Given the description of an element on the screen output the (x, y) to click on. 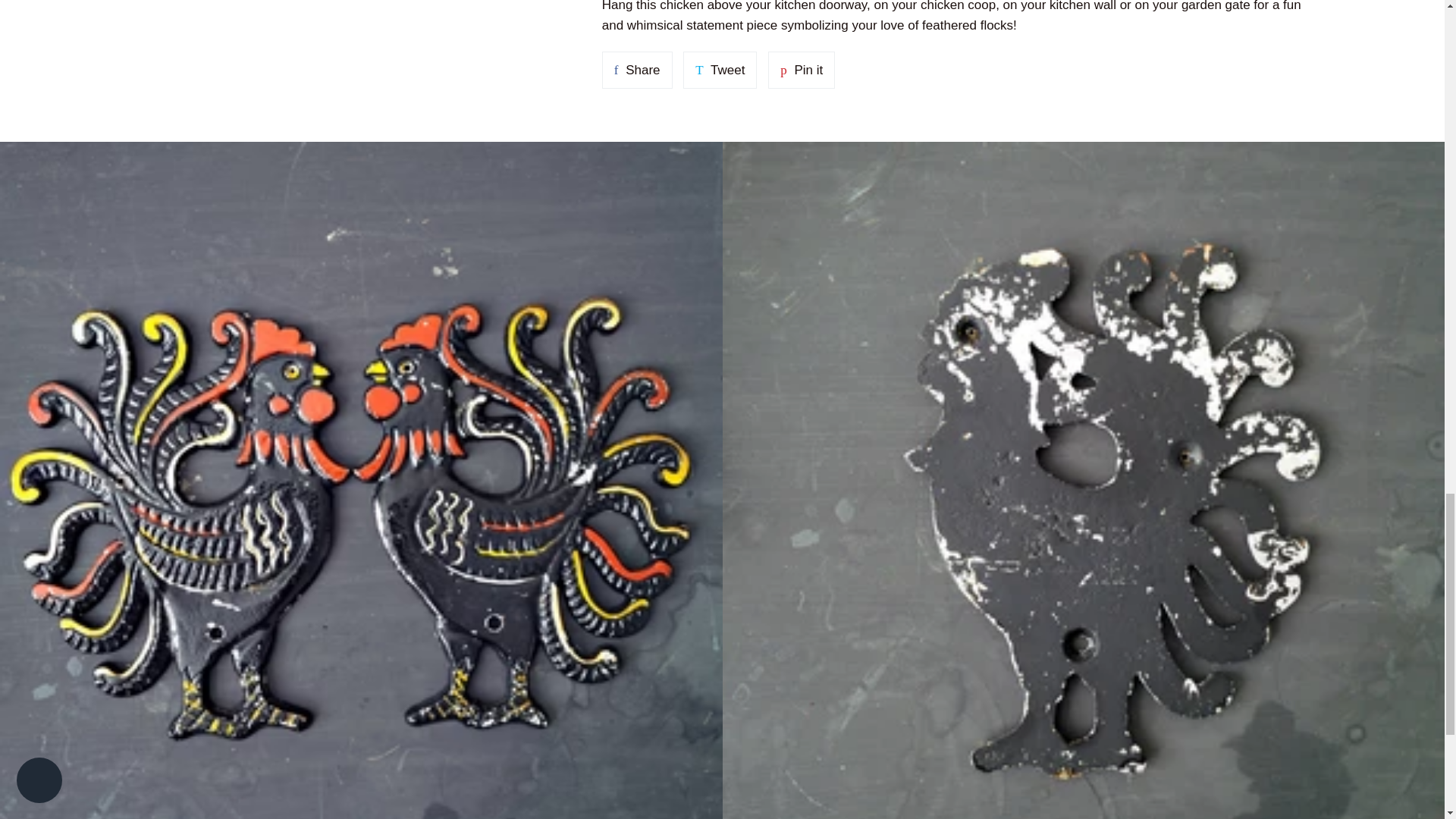
Tweet on Twitter (719, 69)
Share on Facebook (637, 69)
Pin on Pinterest (801, 69)
